Given the description of an element on the screen output the (x, y) to click on. 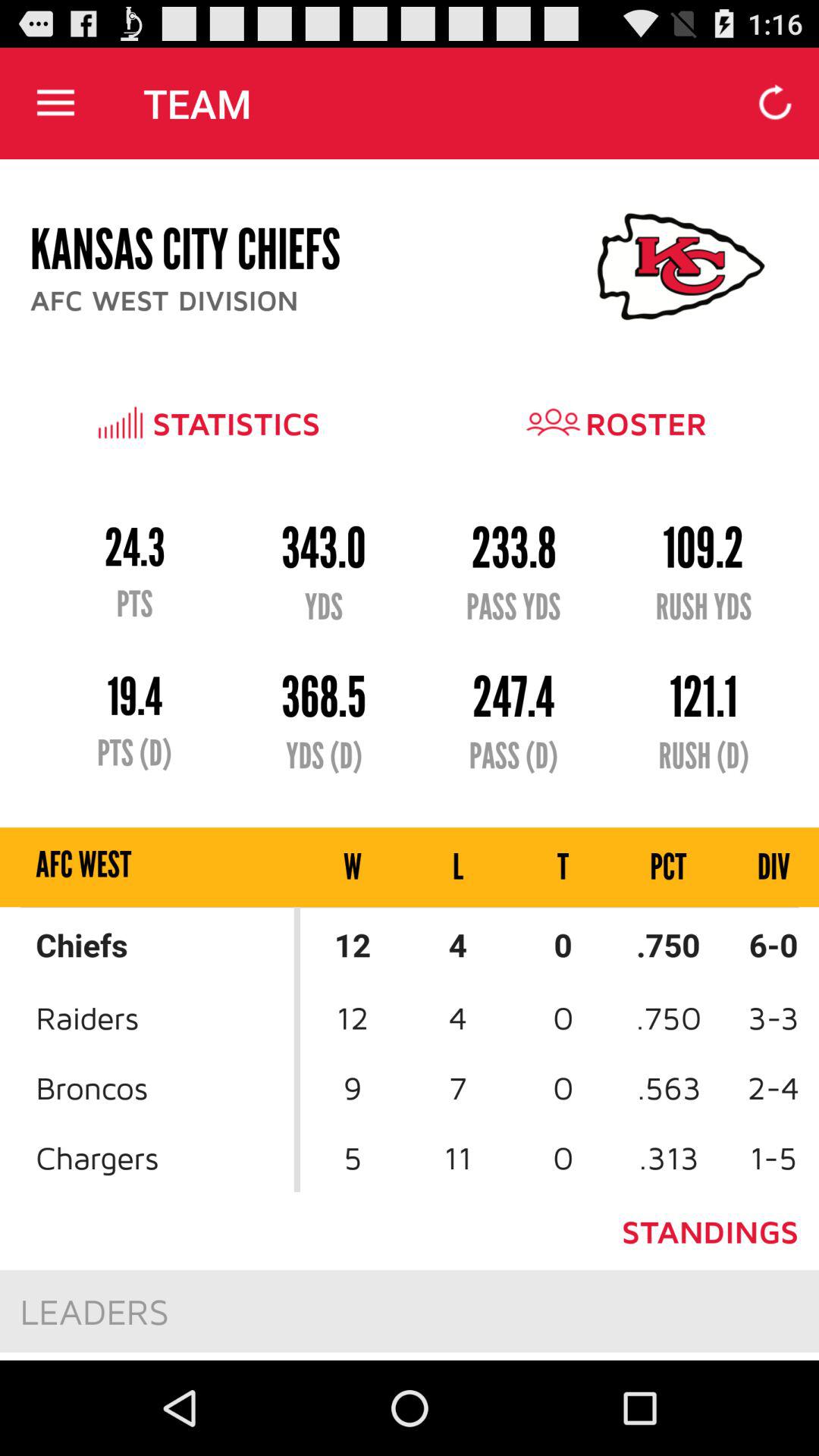
select icon above kansas city chiefs icon (55, 103)
